Given the description of an element on the screen output the (x, y) to click on. 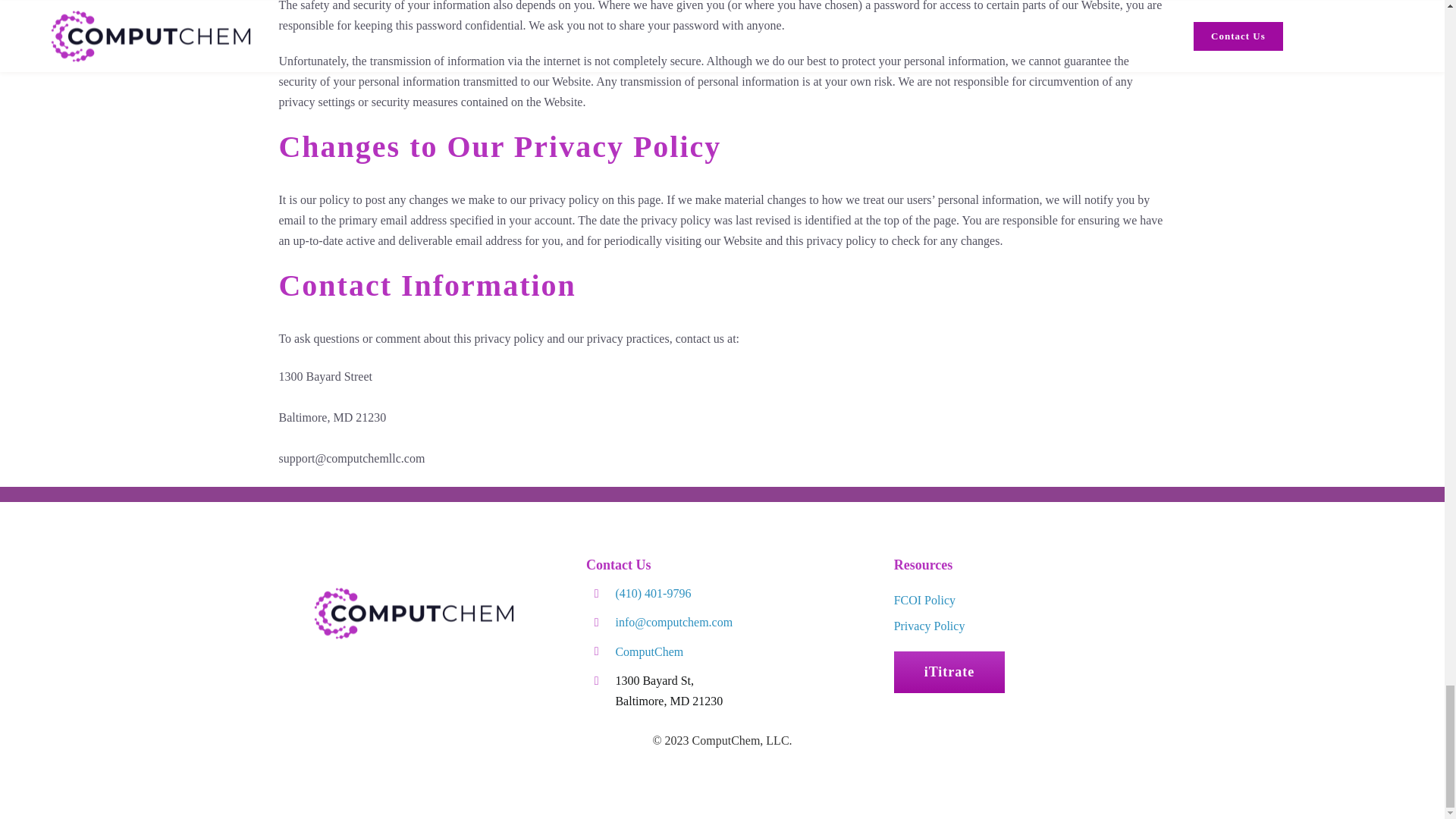
logo (414, 613)
ComputChem (648, 651)
Privacy Policy (929, 625)
iTitrate (949, 671)
FCOI Policy (924, 599)
